Given the description of an element on the screen output the (x, y) to click on. 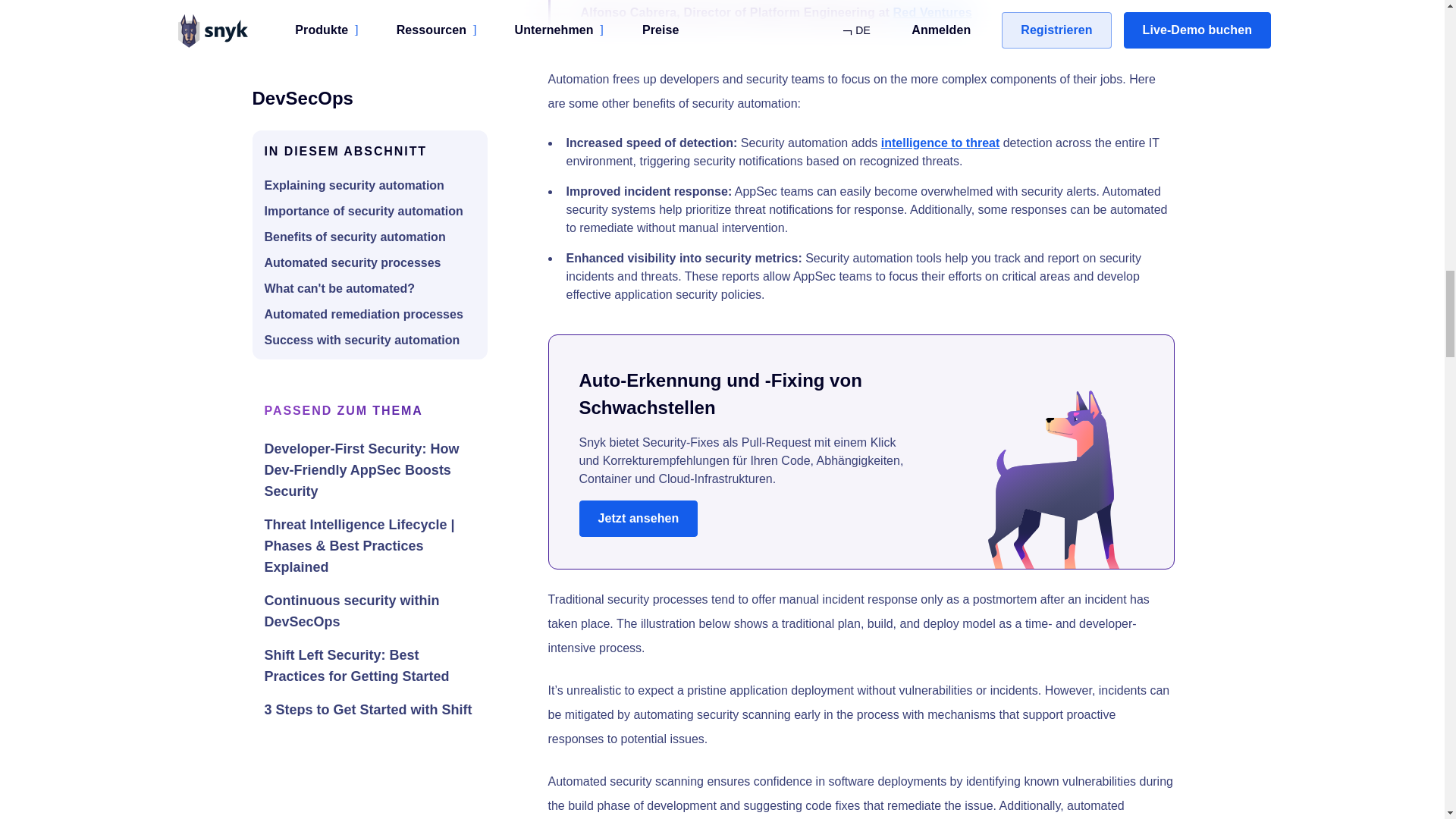
Jetzt ansehen (638, 518)
